Given the description of an element on the screen output the (x, y) to click on. 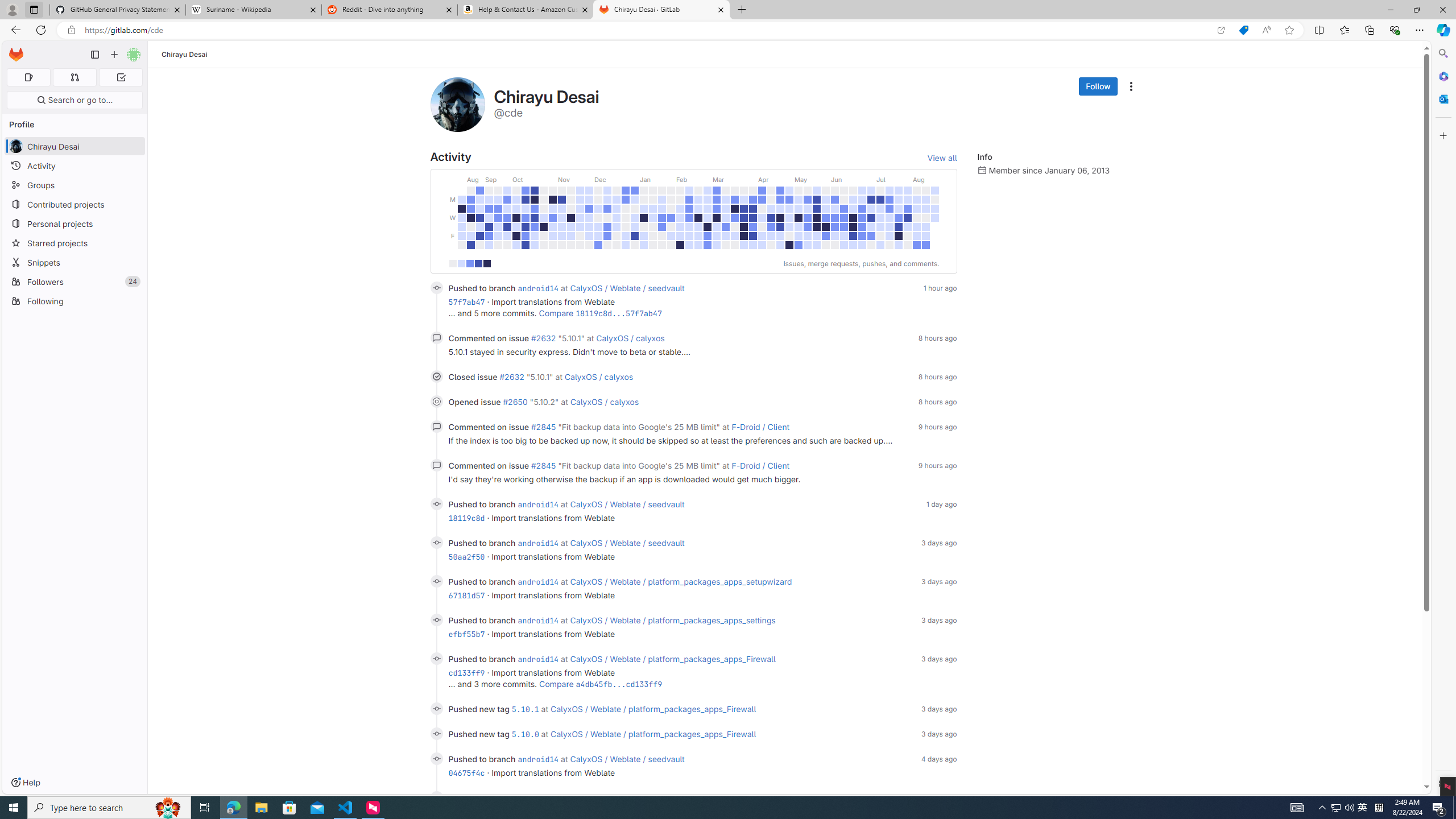
CalyxOS / Weblate / platform_packages_apps_Firewall (653, 733)
Activity (74, 165)
20-29 contributions (477, 262)
